Given the description of an element on the screen output the (x, y) to click on. 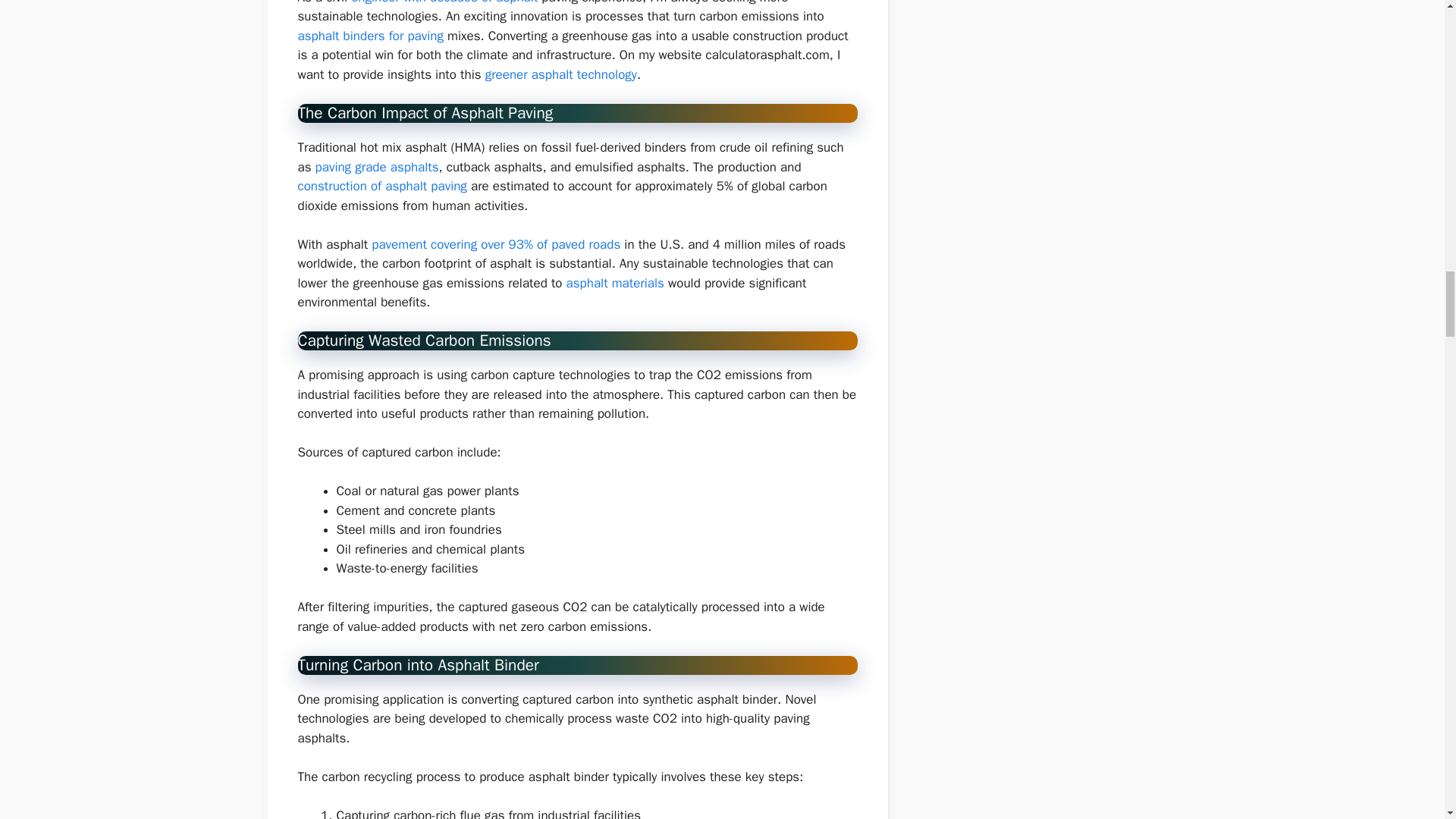
construction of asphalt paving (381, 186)
engineer with decades of asphalt (443, 2)
asphalt binders for paving (369, 35)
paving grade asphalts (377, 166)
greener asphalt technology (560, 74)
